Given the description of an element on the screen output the (x, y) to click on. 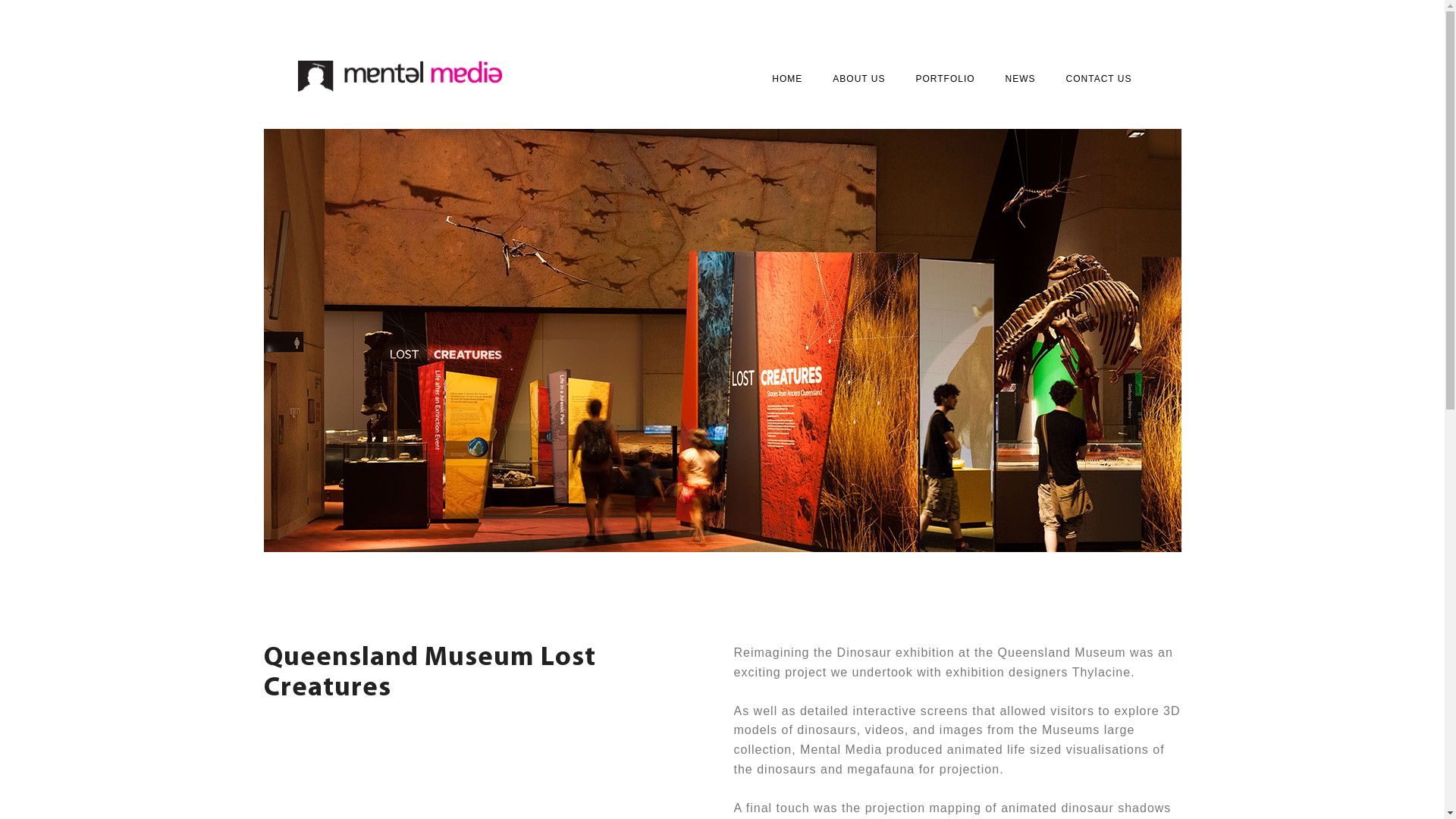
NEWS Element type: text (1020, 79)
PORTFOLIO Element type: text (944, 79)
ABOUT US Element type: text (858, 79)
CONTACT US Element type: text (1099, 79)
HOME Element type: text (786, 79)
